Given the description of an element on the screen output the (x, y) to click on. 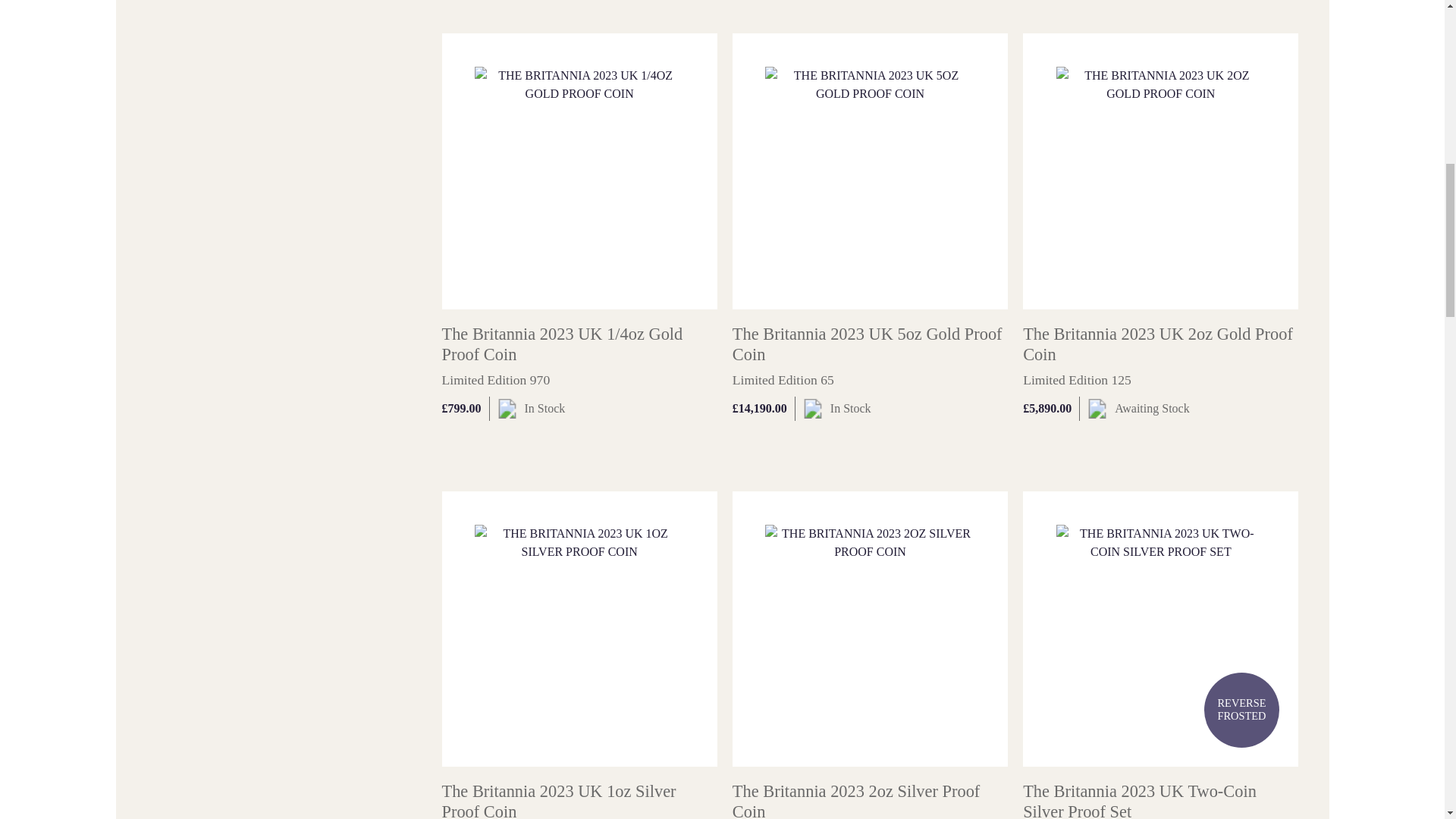
The Britannia 2023 UK 5oz Gold Proof Coin (869, 170)
The Britannia 2023 UK Two-Coin Silver Proof Set   (1160, 628)
The Britannia 2023 2oz Silver Proof Coin (855, 800)
The Britannia 2023 2oz Silver Proof Coin (869, 628)
The Britannia 2023 UK 1oz Silver Proof Coin (578, 628)
The Britannia 2023 UK 5oz Gold Proof Coin (867, 343)
The Britannia 2023 UK 2oz Gold Proof Coin  (1160, 170)
The Britannia 2023 UK 1oz Silver Proof Coin (558, 800)
The Britannia 2023 UK 2oz Gold Proof Coin  (1157, 343)
